Given the description of an element on the screen output the (x, y) to click on. 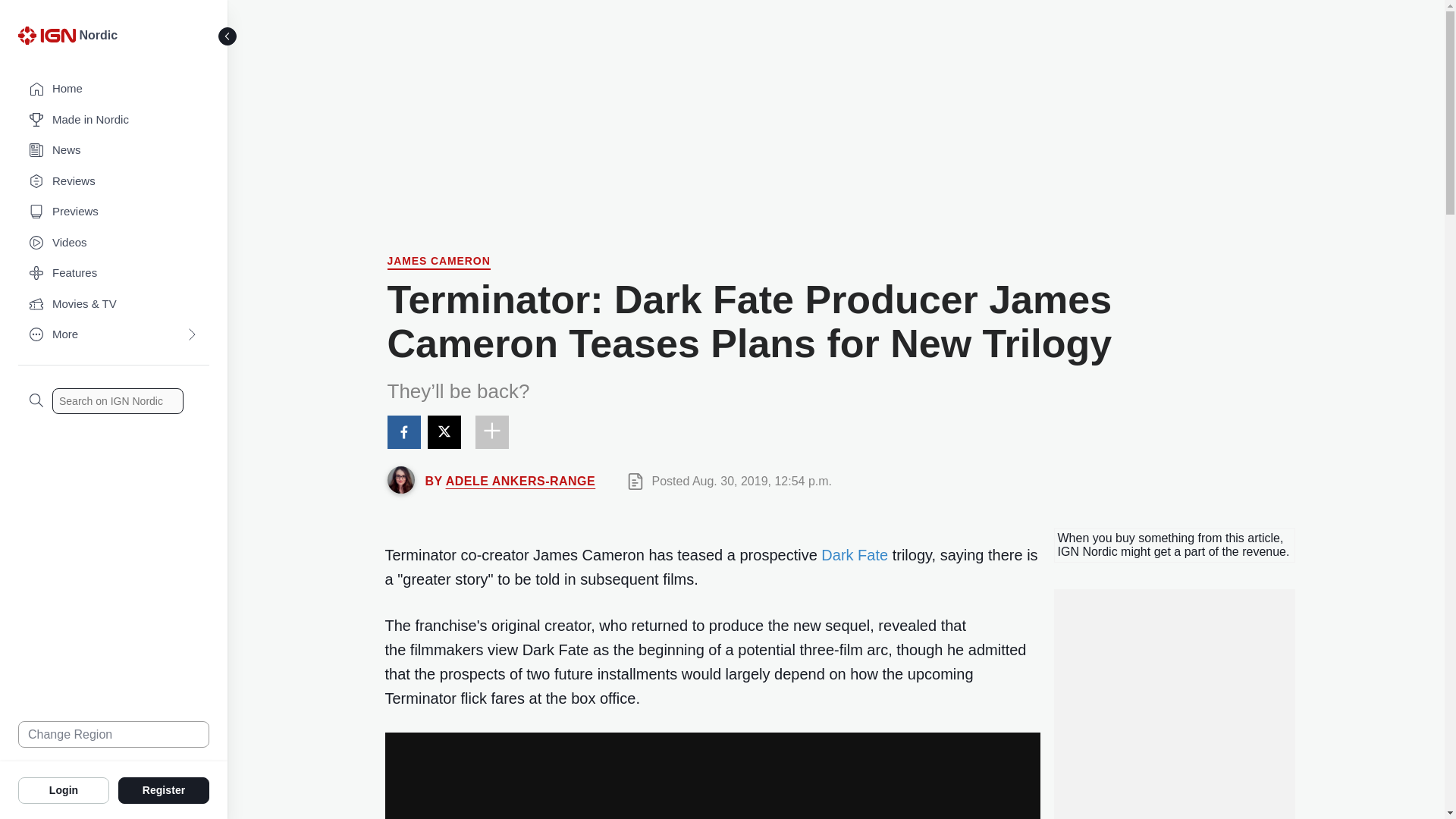
JAMES CAMERON (438, 262)
Previews (113, 211)
Videos (113, 242)
Toggle Sidebar (226, 36)
Made in Nordic (113, 119)
IGN Logo (48, 39)
More (113, 334)
Dark Fate (854, 555)
James Cameron (438, 262)
Register (163, 789)
